Given the description of an element on the screen output the (x, y) to click on. 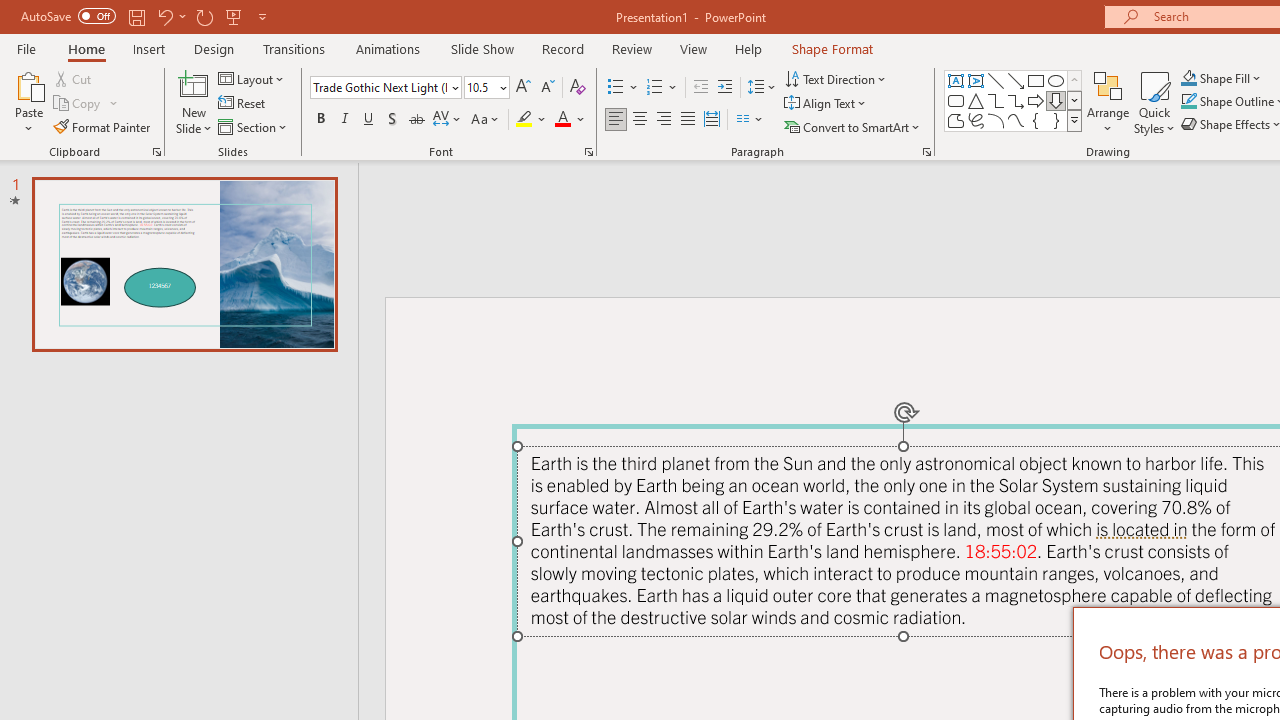
Shape Outline Teal, Accent 1 (1188, 101)
Clear Formatting (577, 87)
Row Down (1074, 100)
Customize Quick Access Toolbar (262, 15)
Connector: Elbow (995, 100)
New Slide (193, 102)
Font Size (486, 87)
Justify (687, 119)
Align Right (663, 119)
Connector: Elbow Arrow (1016, 100)
Rectangle (1035, 80)
Decrease Indent (700, 87)
Insert (149, 48)
